Given the description of an element on the screen output the (x, y) to click on. 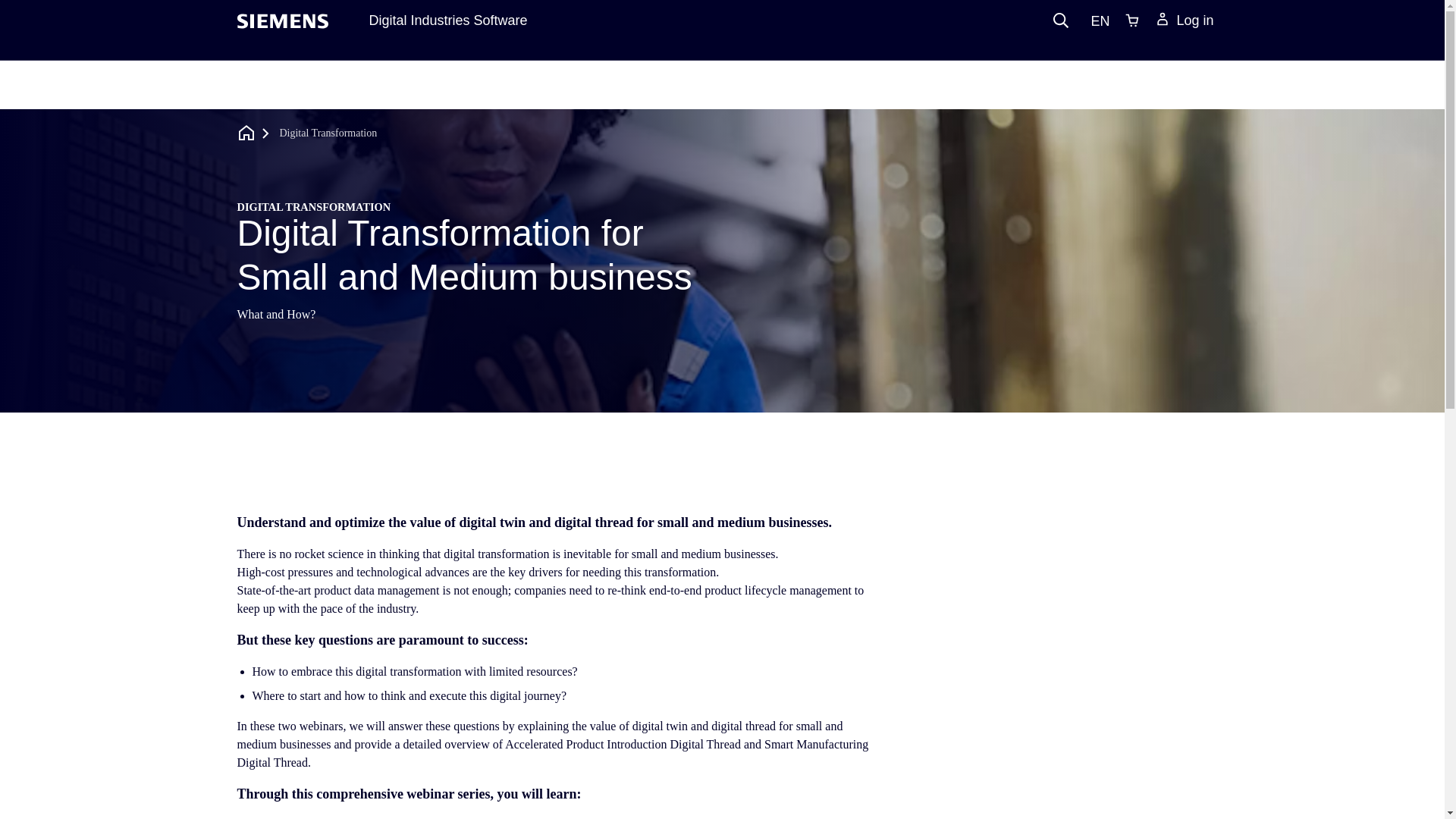
search (1060, 20)
Siemens (281, 20)
Home (244, 132)
Digital Industries Software (447, 20)
EN (1096, 20)
search (1060, 20)
Log in (1183, 20)
